Given the description of an element on the screen output the (x, y) to click on. 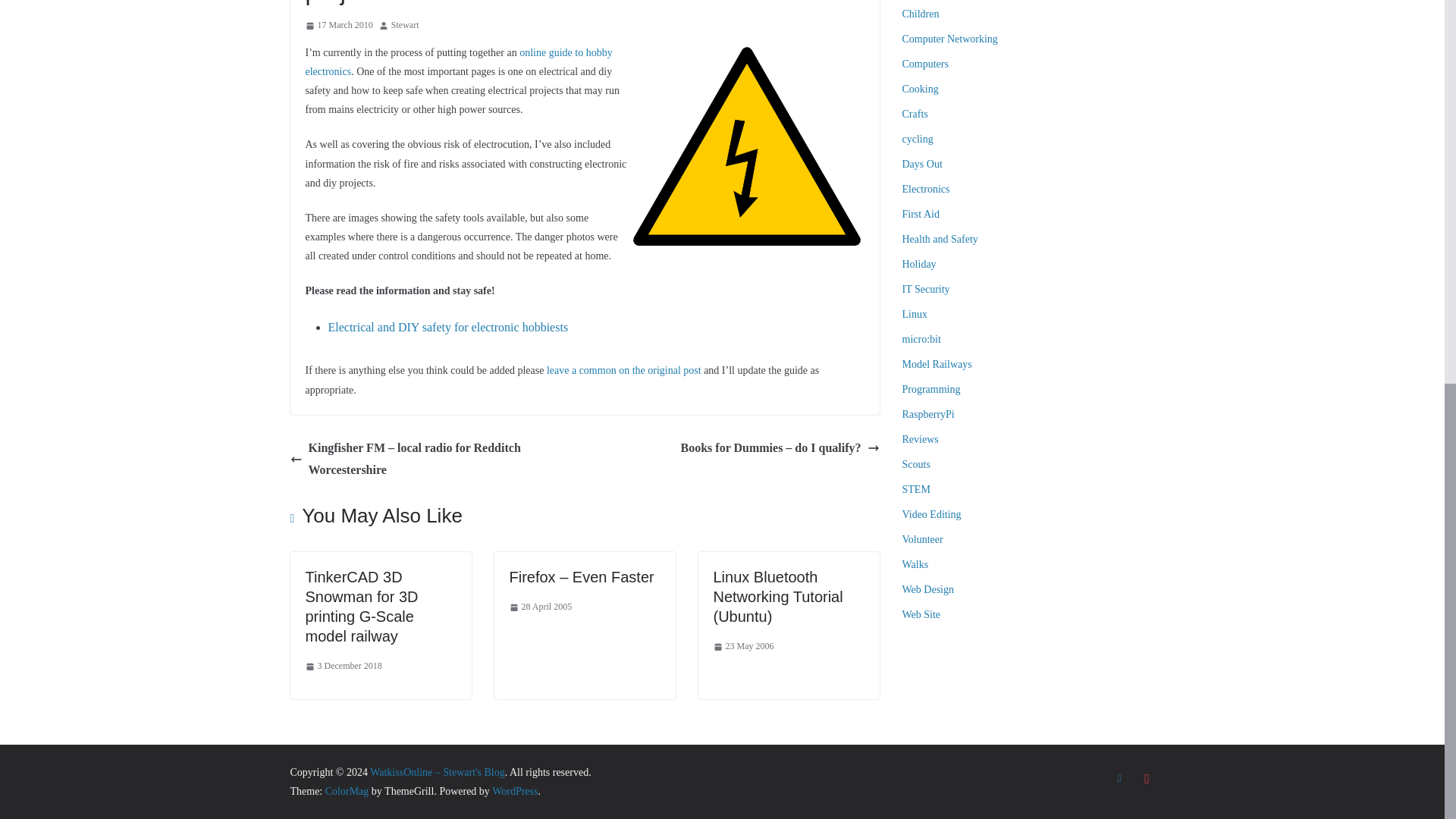
WordPress (514, 790)
leave a common on the original post (624, 369)
Cooking (920, 89)
TinkerCAD 3D Snowman for 3D printing G-Scale model railway (360, 606)
17 March 2010 (338, 25)
Children (920, 13)
3 December 2018 (342, 666)
ColorMag (346, 790)
10:40 am (540, 606)
9:11 am (342, 666)
7:11 pm (338, 25)
Electrical and DIY safety for electronic hobbiests (447, 327)
TinkerCAD 3D Snowman for 3D printing G-Scale model railway (360, 606)
28 April 2005 (540, 606)
23 May 2006 (743, 646)
